Given the description of an element on the screen output the (x, y) to click on. 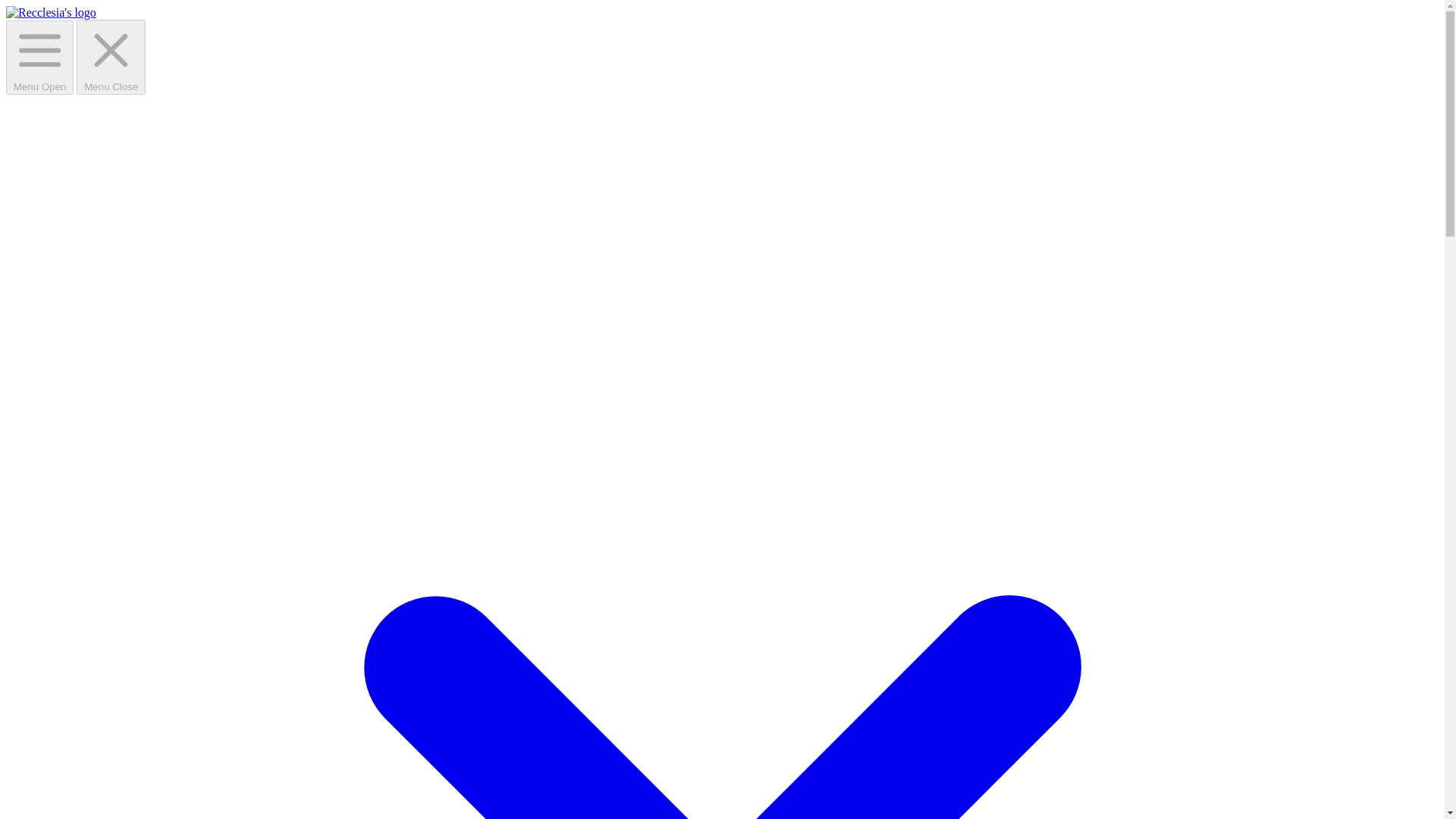
Menu Close (111, 57)
Menu Open (39, 57)
